Given the description of an element on the screen output the (x, y) to click on. 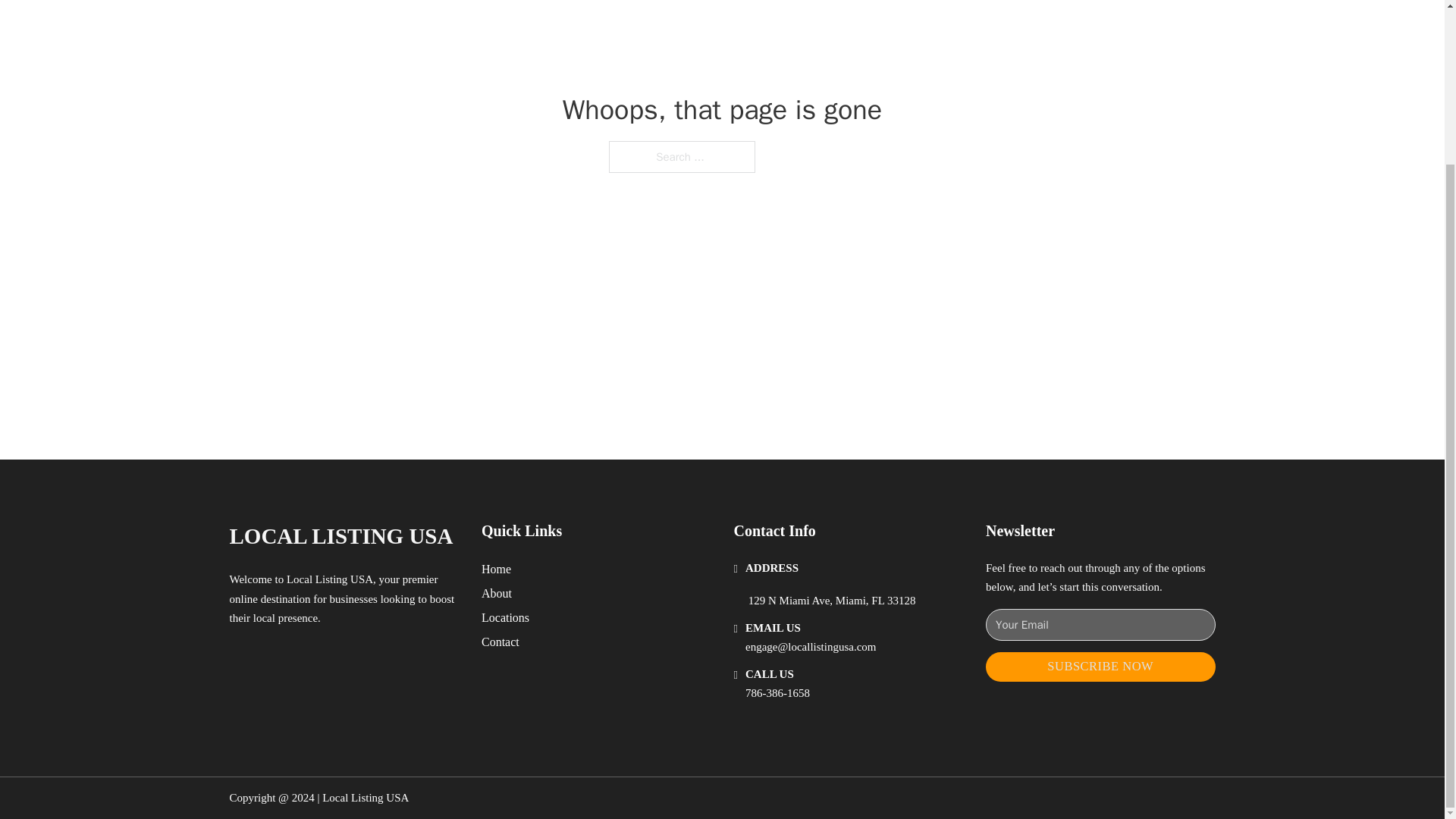
Locations (505, 617)
LOCAL LISTING USA (340, 536)
786-386-1658 (777, 693)
Contact (500, 641)
SUBSCRIBE NOW (1100, 666)
About (496, 593)
Home (496, 568)
